Given the description of an element on the screen output the (x, y) to click on. 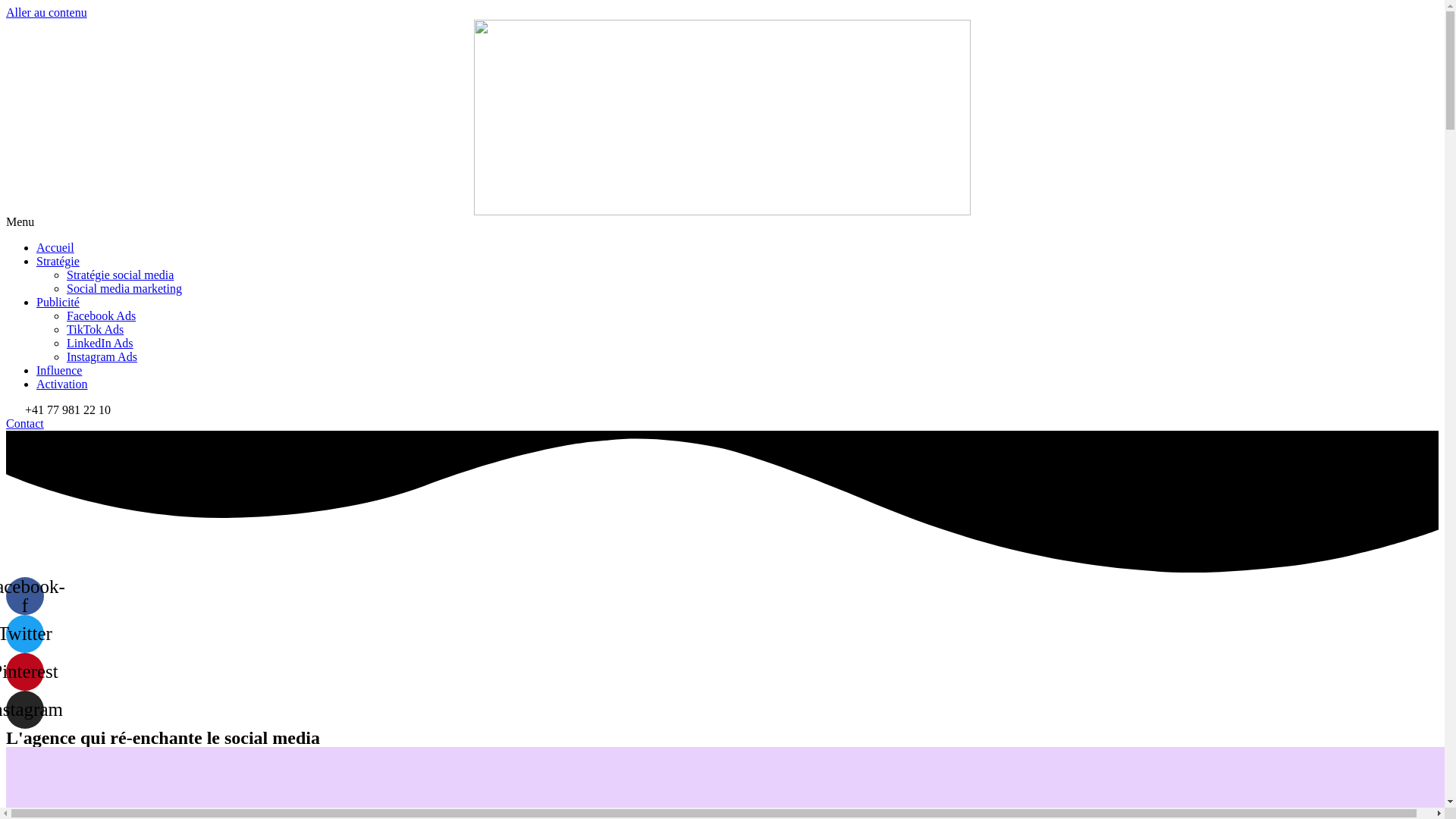
Activation Element type: text (61, 383)
Facebook-f Element type: text (24, 596)
Influence Element type: text (58, 370)
Social media marketing Element type: text (124, 288)
Instagram Ads Element type: text (101, 356)
Contact Element type: text (24, 423)
LinkedIn Ads Element type: text (99, 342)
Pinterest Element type: text (24, 671)
Aller au contenu Element type: text (46, 12)
Instagram Element type: text (24, 709)
Facebook Ads Element type: text (100, 315)
Accueil Element type: text (55, 247)
Twitter Element type: text (24, 633)
TikTok Ads Element type: text (94, 329)
